Given the description of an element on the screen output the (x, y) to click on. 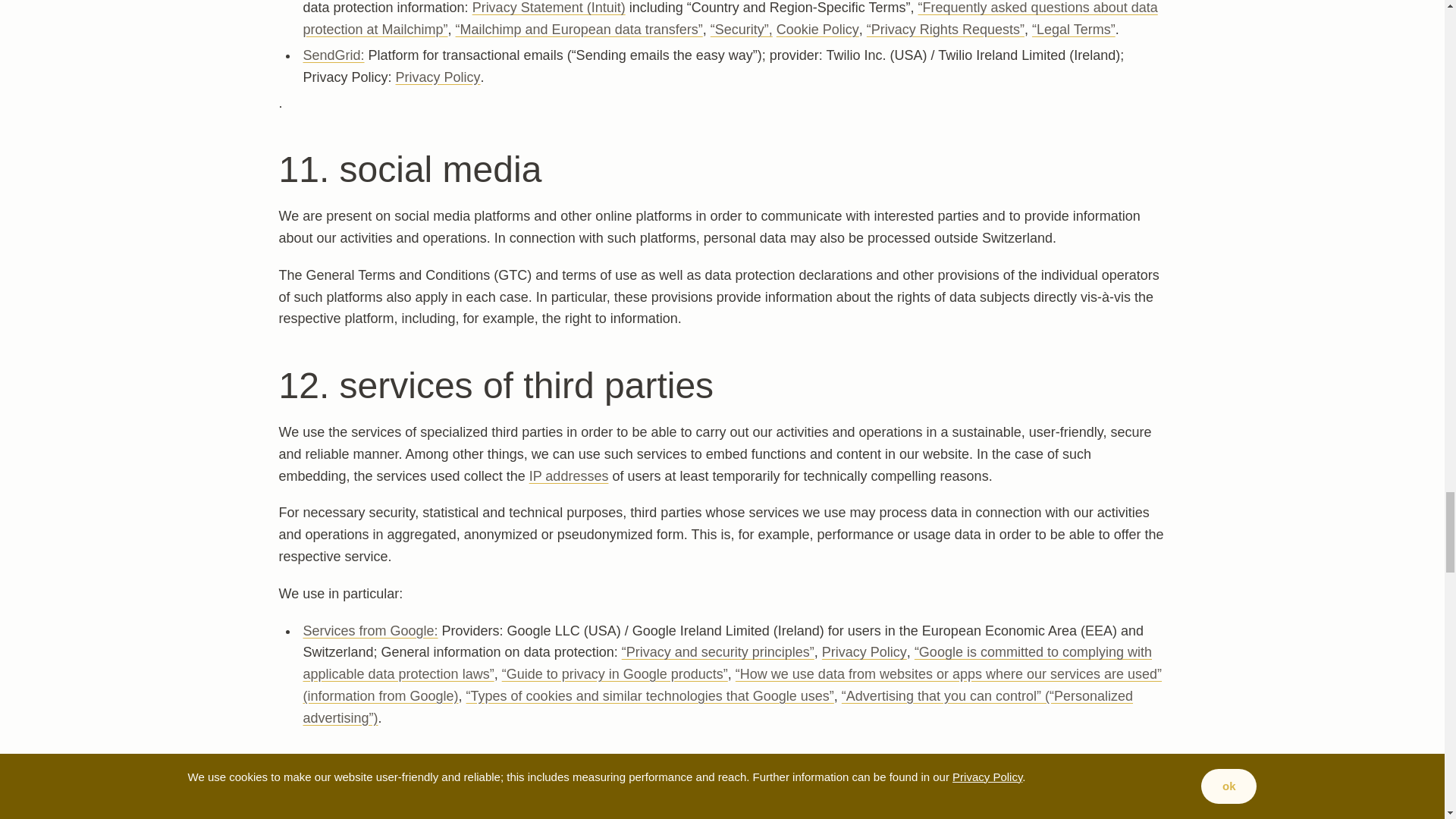
Privacy Policy (864, 652)
IP addresses (568, 476)
Privacy Policy (438, 77)
SendGrid: (333, 55)
Services from Google: (370, 630)
Cookie Policy (817, 29)
